Given the description of an element on the screen output the (x, y) to click on. 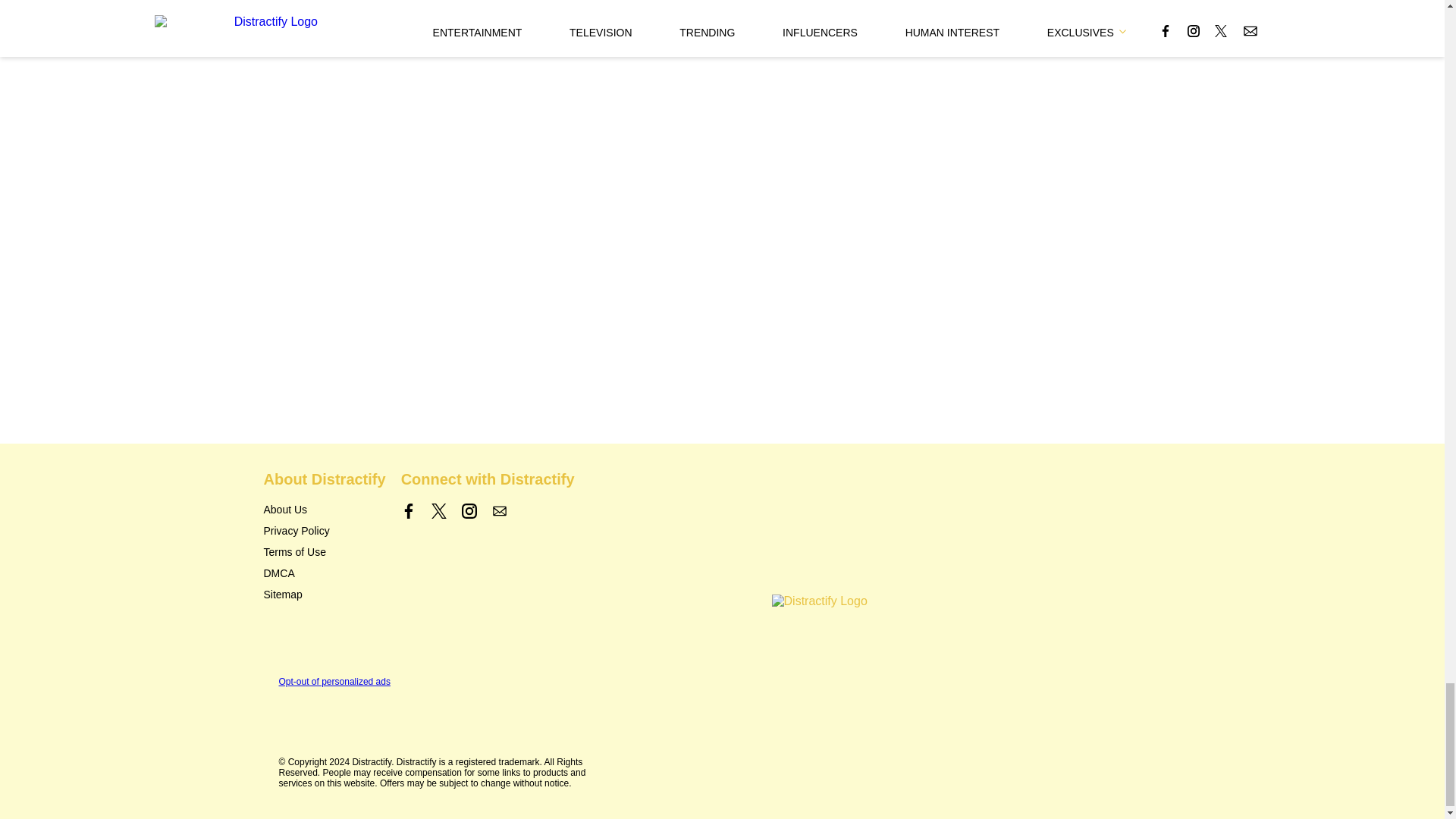
Privacy Policy (296, 530)
Link to Instagram (469, 510)
Terms of Use (294, 551)
About Us (285, 509)
Link to X (438, 510)
Link to Facebook (408, 510)
Sitemap (282, 594)
Contact us by Email (499, 510)
DMCA (279, 573)
